Given the description of an element on the screen output the (x, y) to click on. 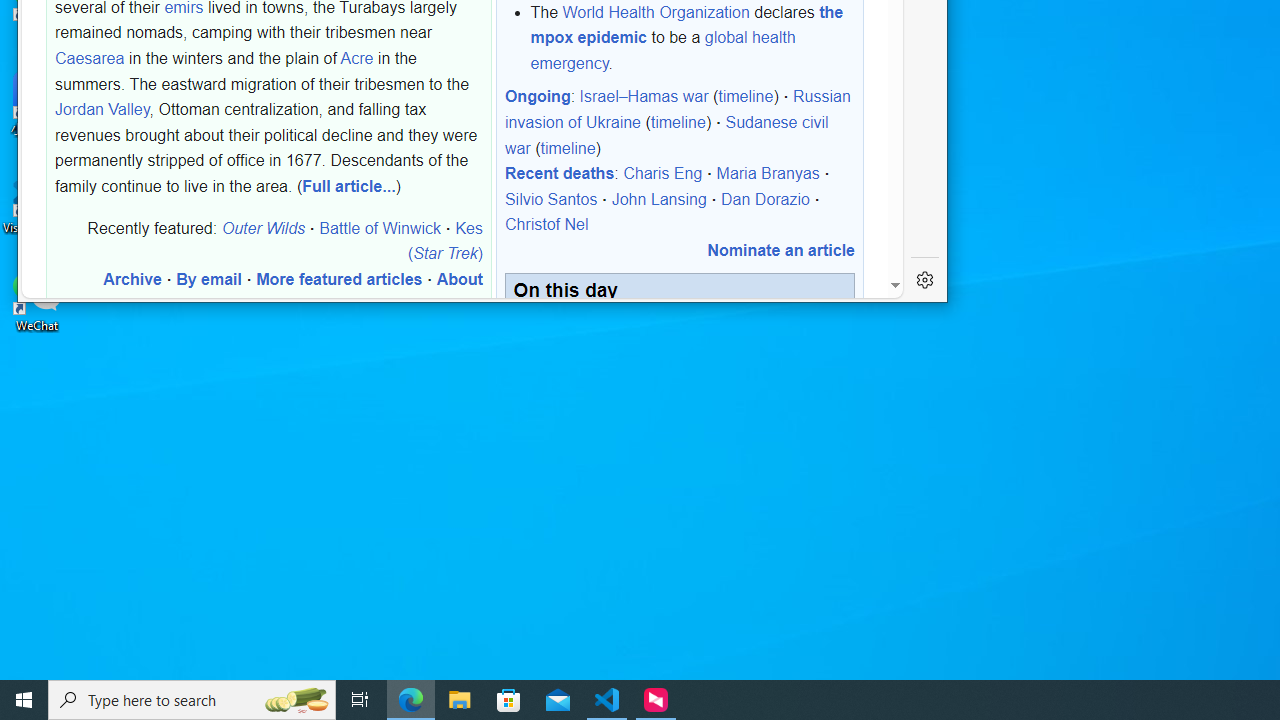
Start (24, 699)
Visual Studio Code - 1 running window (607, 699)
Microsoft Store (509, 699)
Type here to search (191, 699)
Microsoft Edge - 1 running window (411, 699)
Task View (359, 699)
Search highlights icon opens search home window (295, 699)
File Explorer (460, 699)
